Given the description of an element on the screen output the (x, y) to click on. 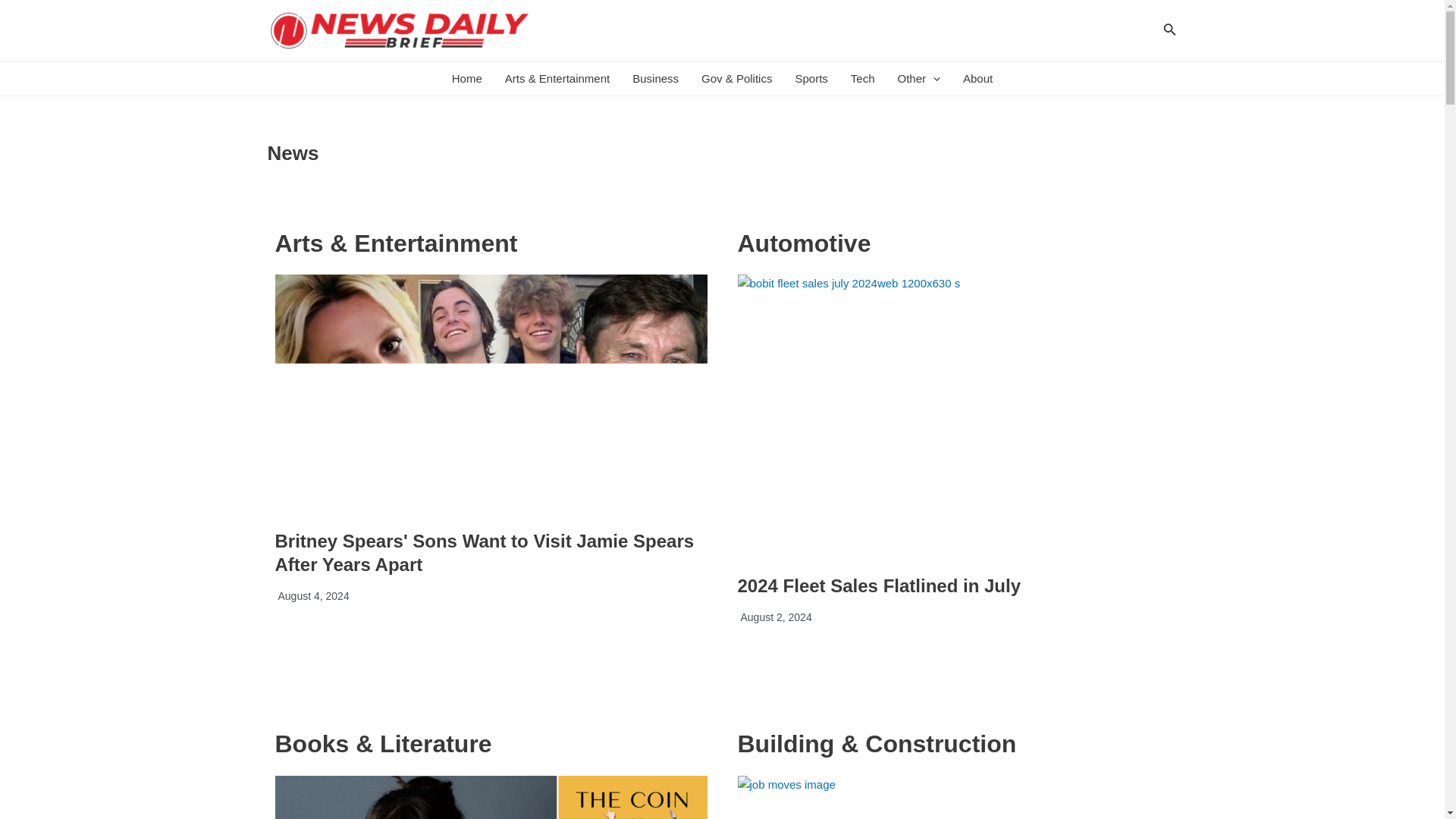
About (978, 78)
Tech (863, 78)
Sports (810, 78)
Other (918, 78)
Home (467, 78)
Business (655, 78)
